Given the description of an element on the screen output the (x, y) to click on. 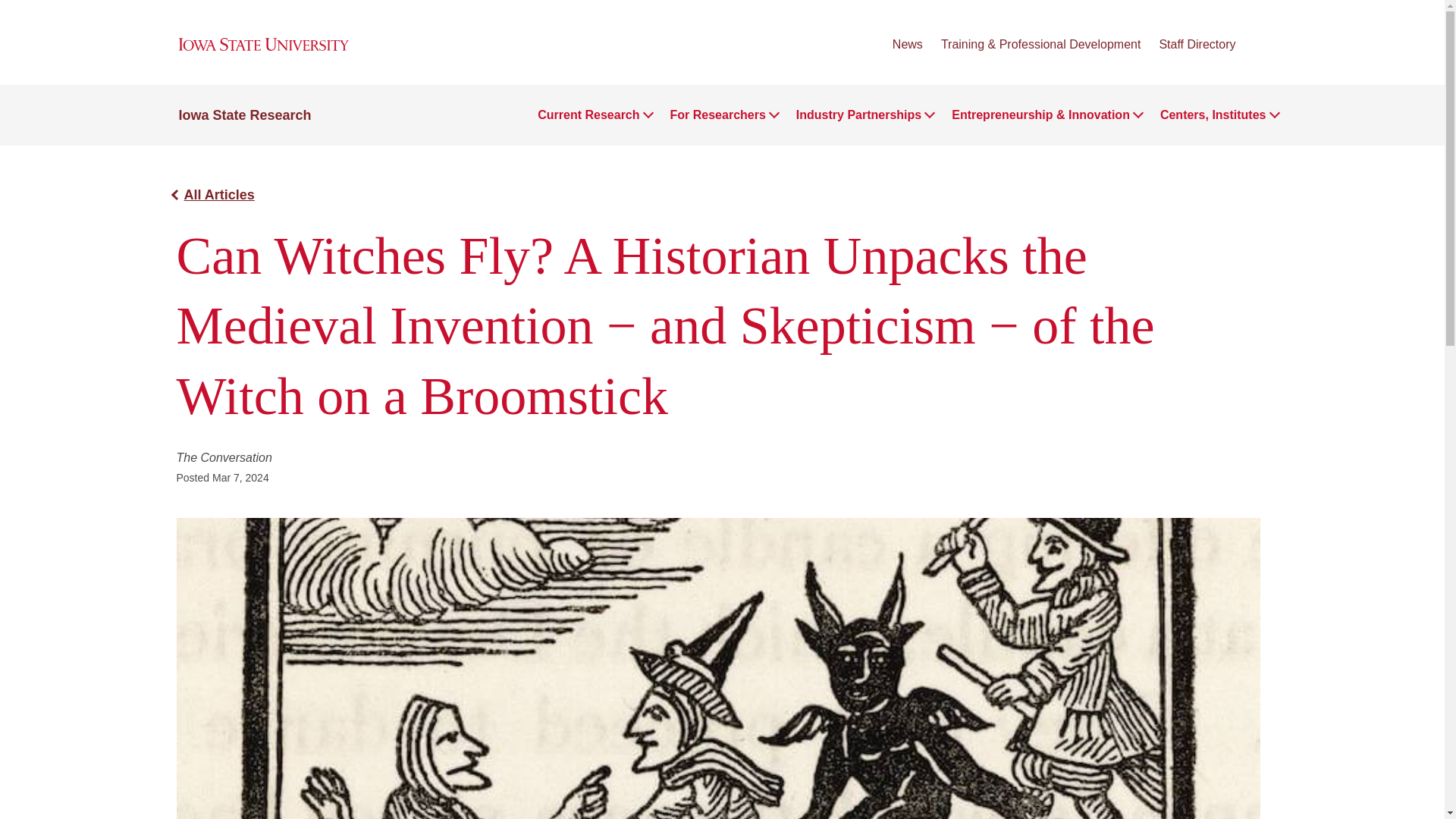
For Researchers (717, 115)
Centers, Institutes (1213, 115)
Iowa State Research (245, 114)
Search (1259, 45)
Staff Directory (1196, 43)
Industry Partnerships (858, 115)
Current Research (588, 115)
News (907, 43)
